Given the description of an element on the screen output the (x, y) to click on. 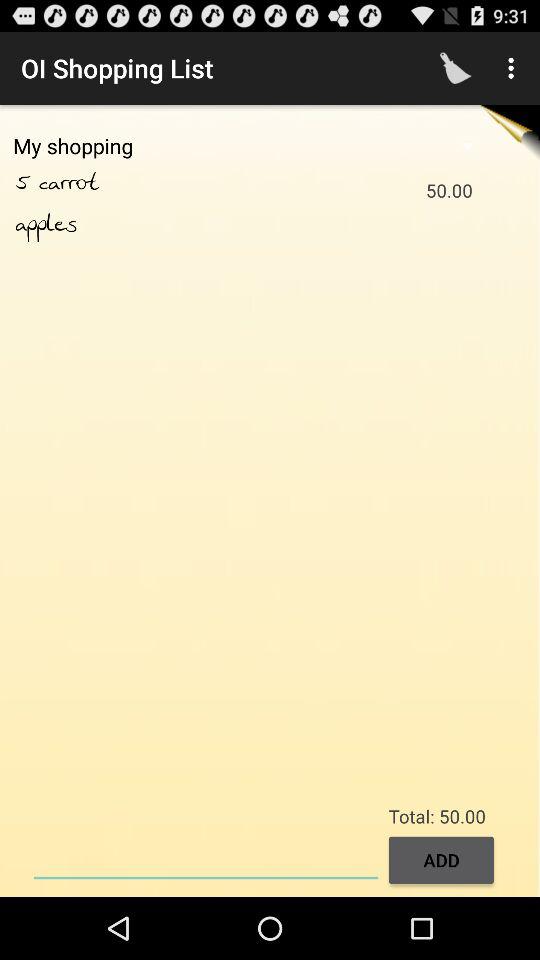
launch the icon to the right of the oi shopping list icon (455, 67)
